Given the description of an element on the screen output the (x, y) to click on. 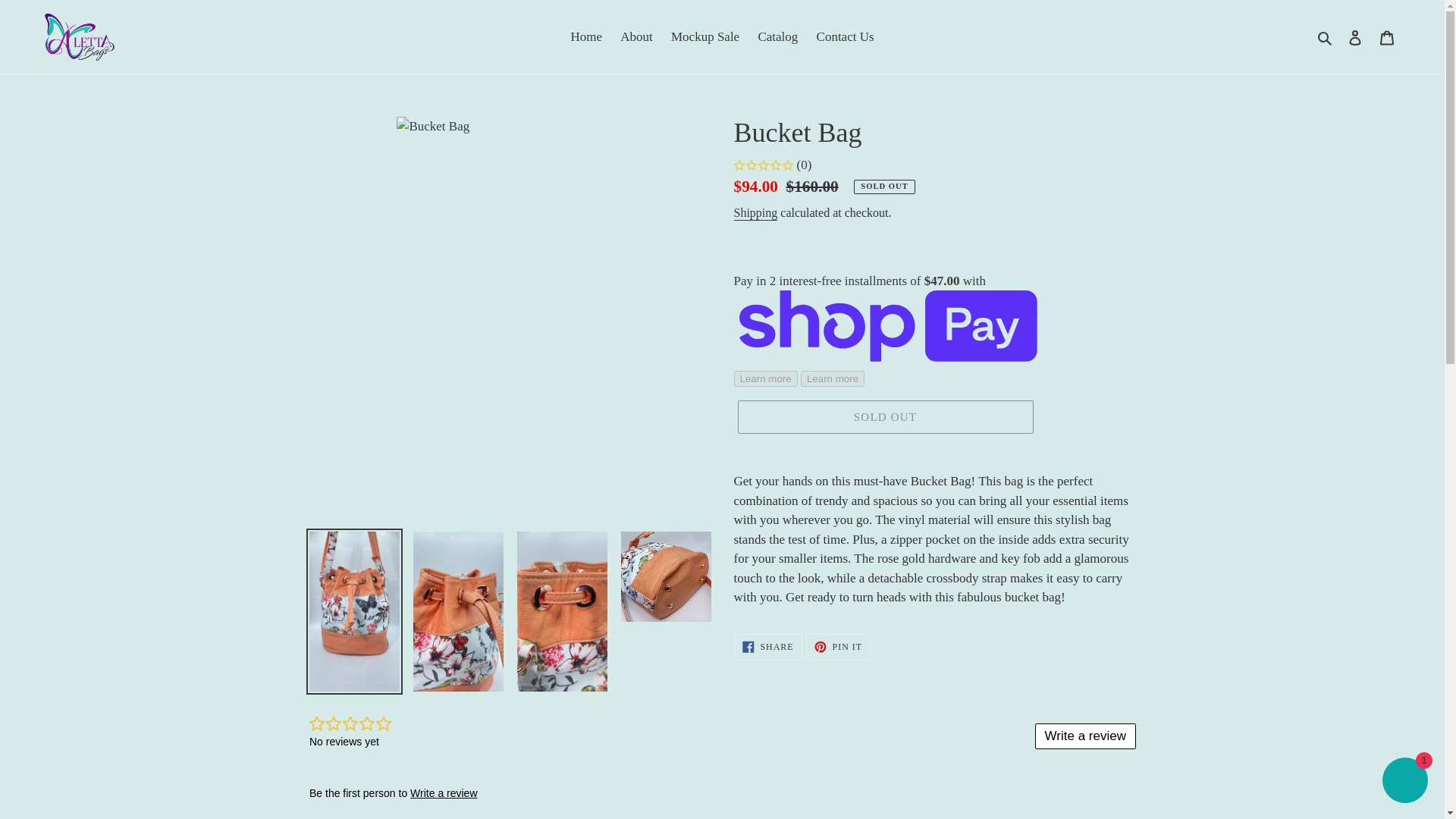
Shopify online store chat (1404, 781)
Cart (1387, 36)
Catalog (777, 37)
Mockup Sale (704, 37)
Contact Us (845, 37)
SOLD OUT (884, 417)
About (636, 37)
Shipping (755, 213)
Log in (767, 646)
Search (1355, 36)
Home (838, 646)
